Given the description of an element on the screen output the (x, y) to click on. 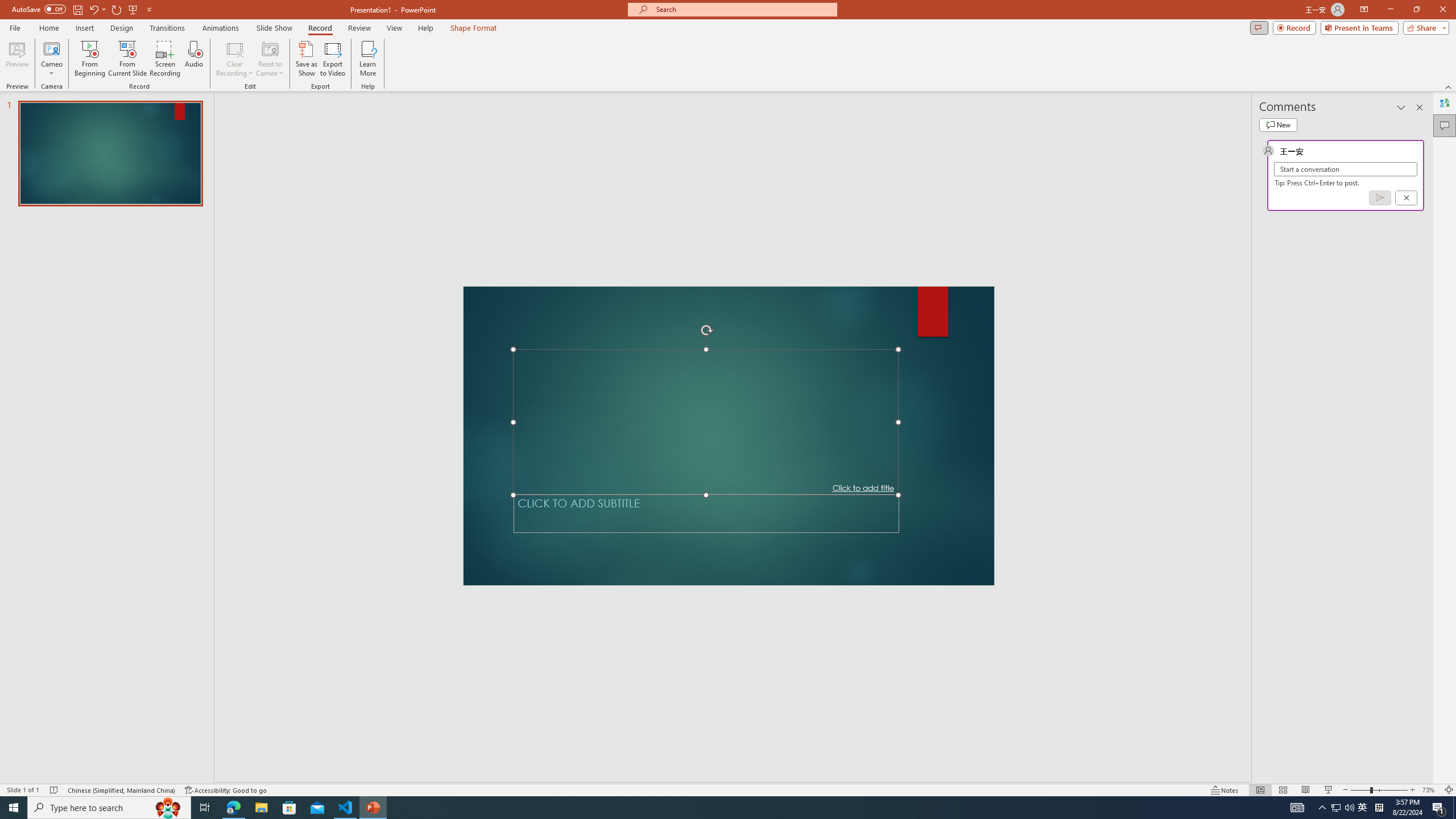
Comments (1275, 48)
Notion (917, 800)
Save (136, 18)
Class: Image (1277, 800)
Reset Window Position (788, 112)
Zoom 75% (1438, 773)
Page Width (526, 112)
Synchronous Scrolling (787, 91)
Multiple Pages (811, 379)
AutomationID: BadgeAnchorLargeTicker (26, 800)
Text width (727, 369)
